Given the description of an element on the screen output the (x, y) to click on. 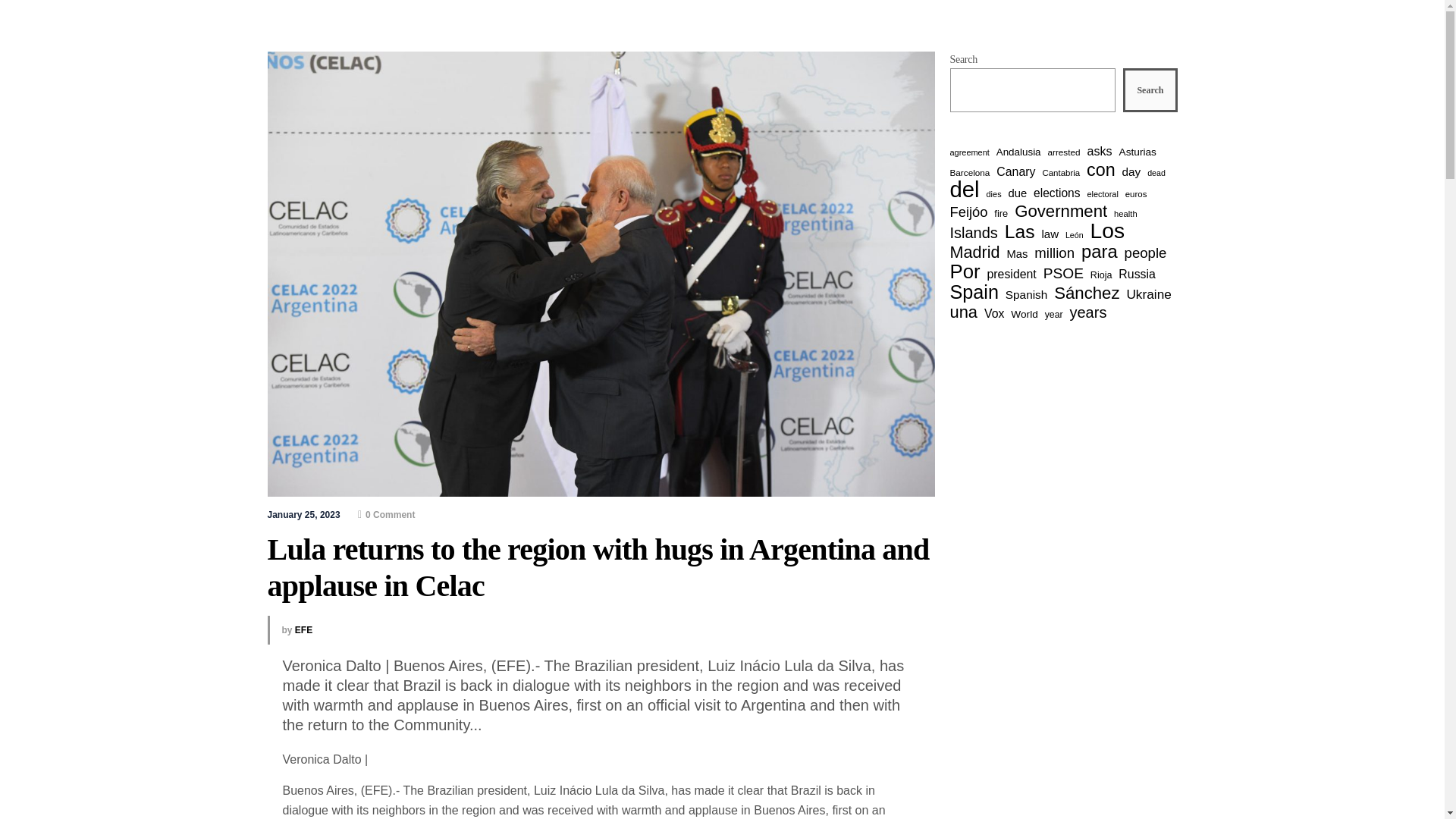
Search (1149, 89)
0 Comment (386, 514)
agreement (968, 152)
Andalusia (1018, 152)
EFE (304, 629)
